Given the description of an element on the screen output the (x, y) to click on. 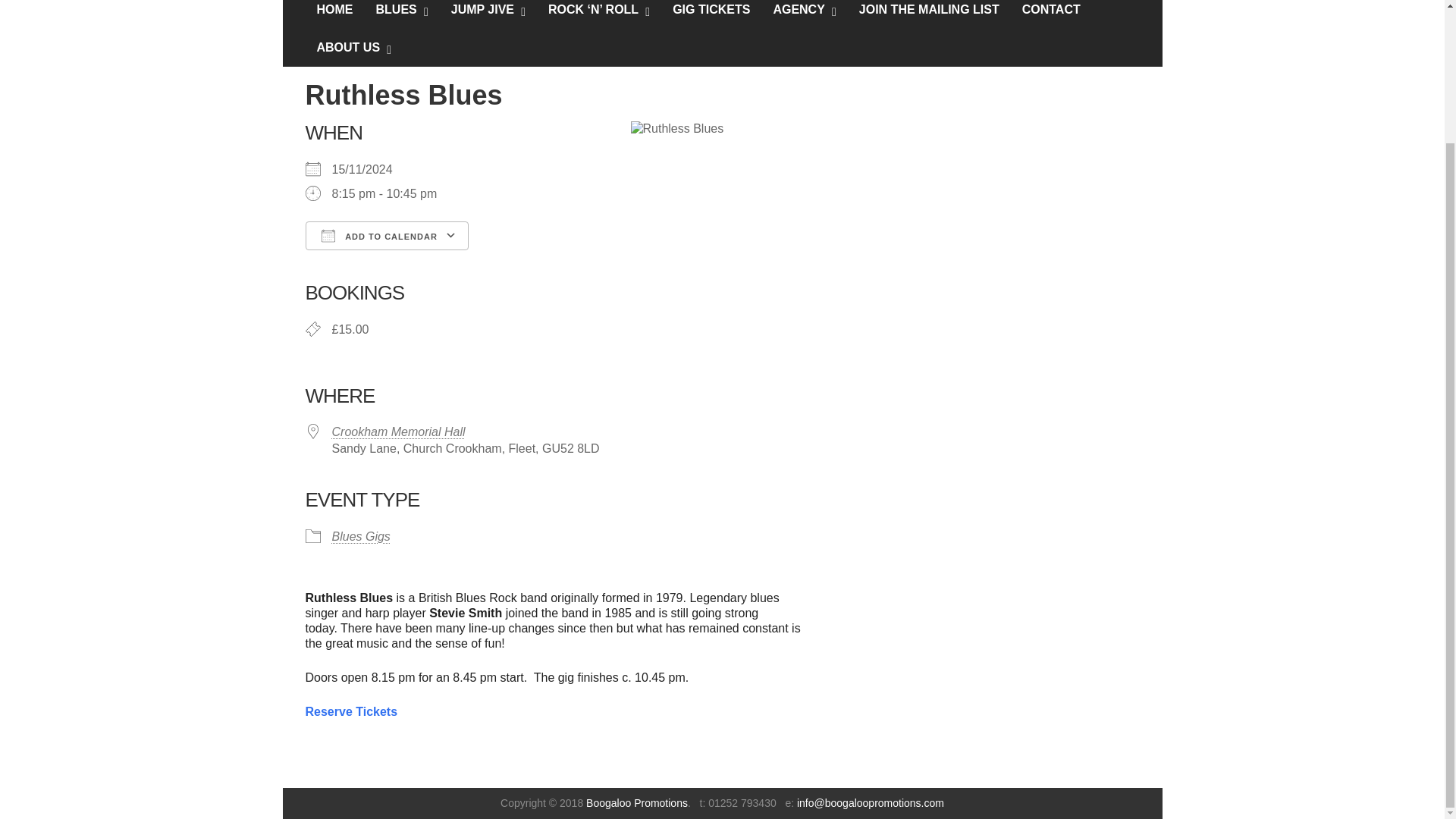
Blues Gigs (360, 535)
Crookham Memorial Hall (398, 431)
BLUES (395, 14)
HOME (335, 14)
JUMP JIVE (482, 14)
JOIN THE MAILING LIST (928, 14)
ADD TO CALENDAR (385, 235)
Download ICS (321, 262)
Boogaloo Promotions (636, 802)
ABOUT US (348, 47)
